Given the description of an element on the screen output the (x, y) to click on. 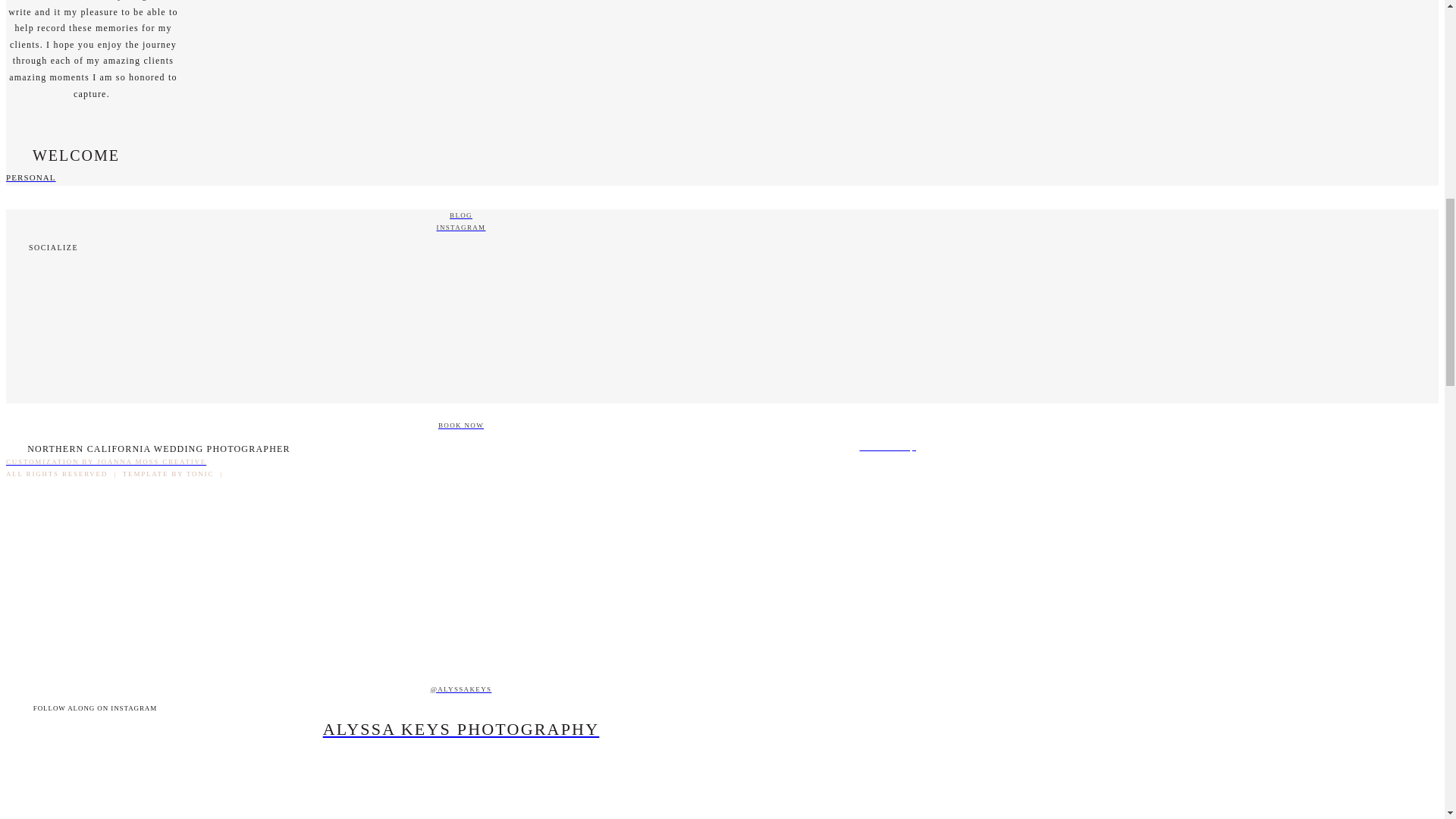
BLOG (460, 215)
CUSTOMIZATION BY JOANNA MOSS CREATIVE (460, 461)
back to top (460, 445)
BOOK NOW (460, 425)
PERSONAL (460, 177)
ALYSSA KEYS PHOTOGRAPHY (460, 730)
INSTAGRAM (460, 227)
